Given the description of an element on the screen output the (x, y) to click on. 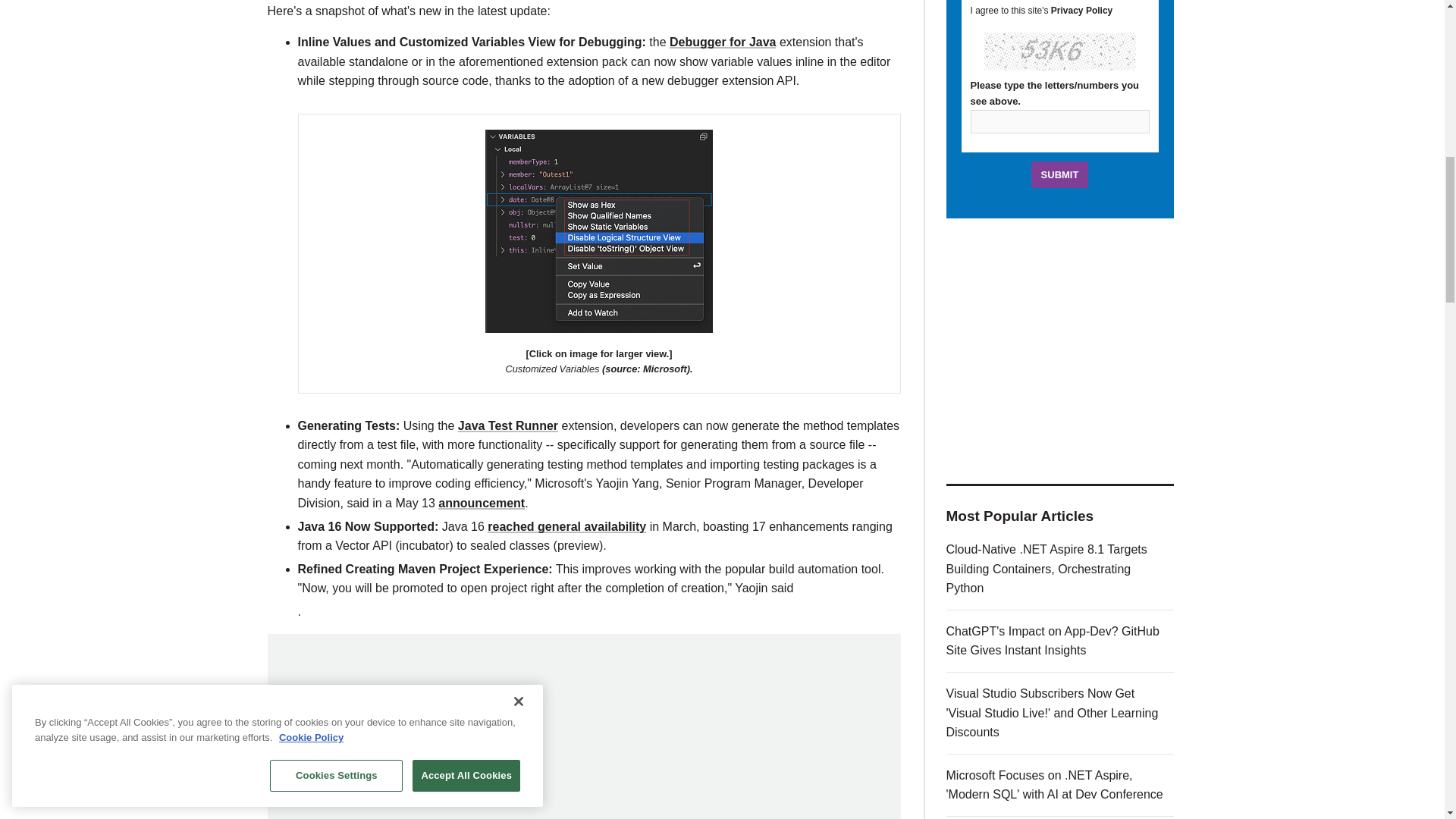
3rd party ad content (583, 734)
3rd party ad content (1059, 350)
Submit (1059, 174)
